Given the description of an element on the screen output the (x, y) to click on. 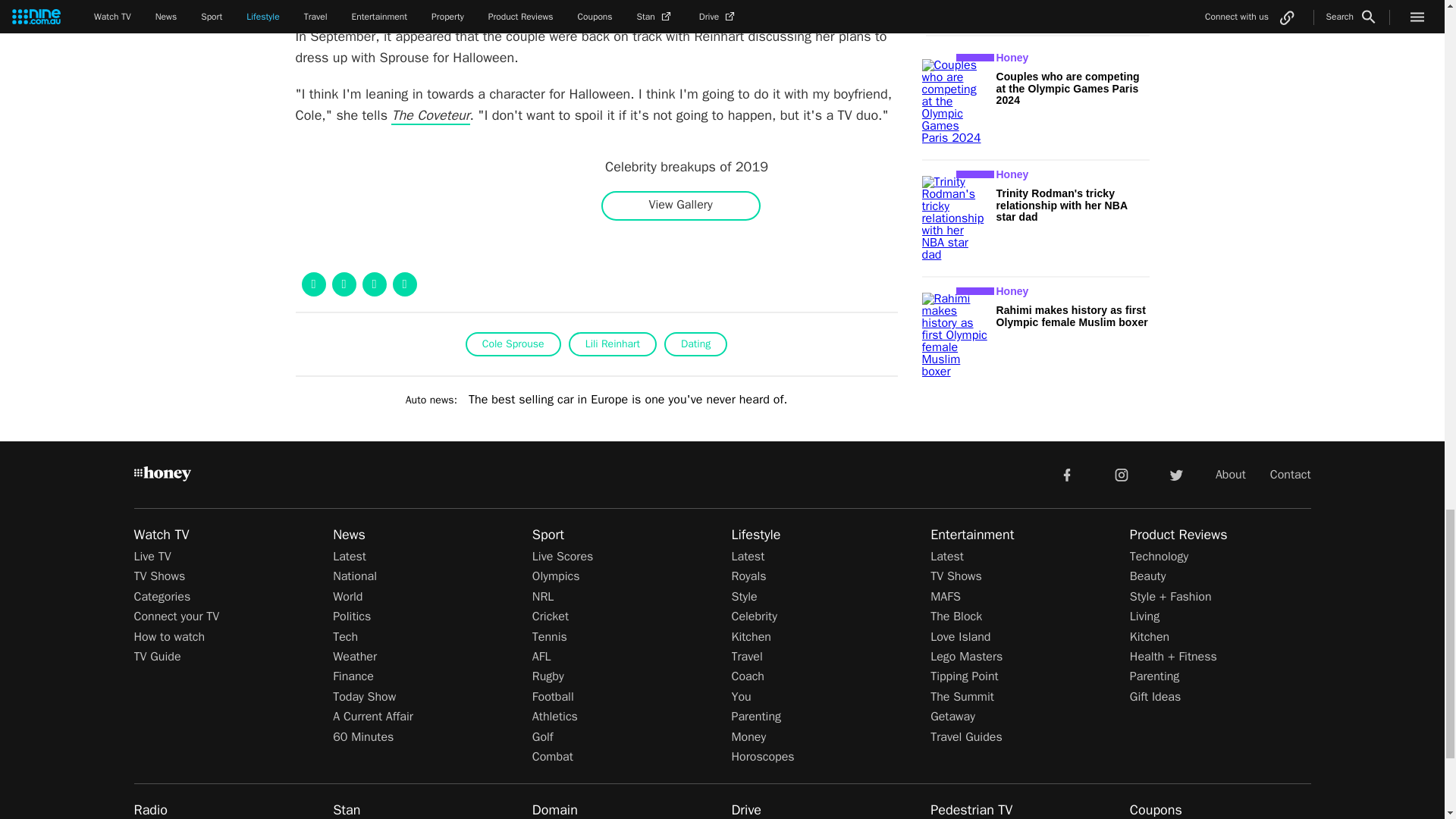
instagram (1121, 473)
twitter (1175, 473)
facebook (1066, 473)
